Given the description of an element on the screen output the (x, y) to click on. 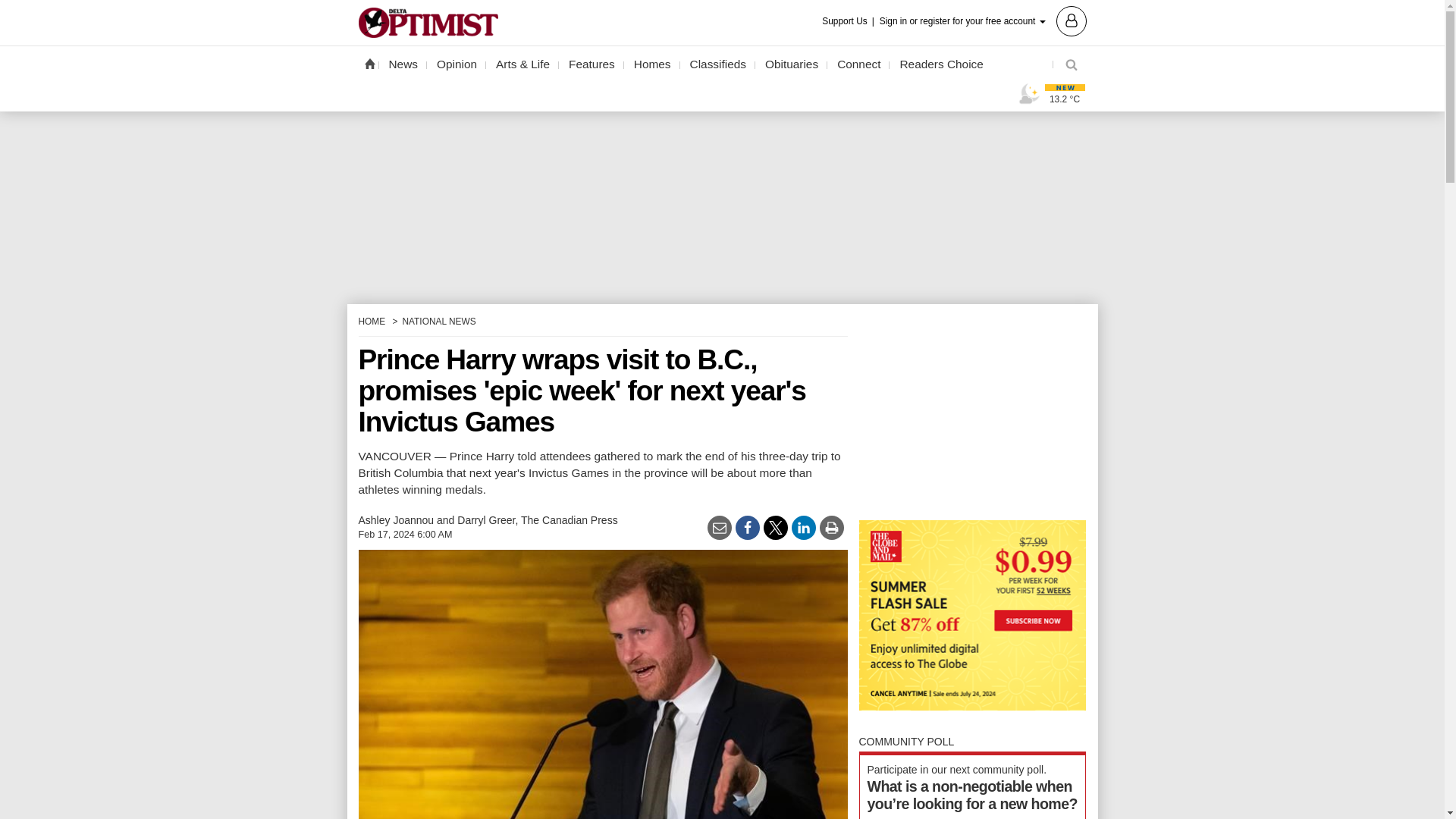
Opinion (456, 64)
Sign in or register for your free account (982, 20)
Support Us (849, 21)
Home (368, 63)
3rd party ad content (972, 410)
News (403, 64)
